Given the description of an element on the screen output the (x, y) to click on. 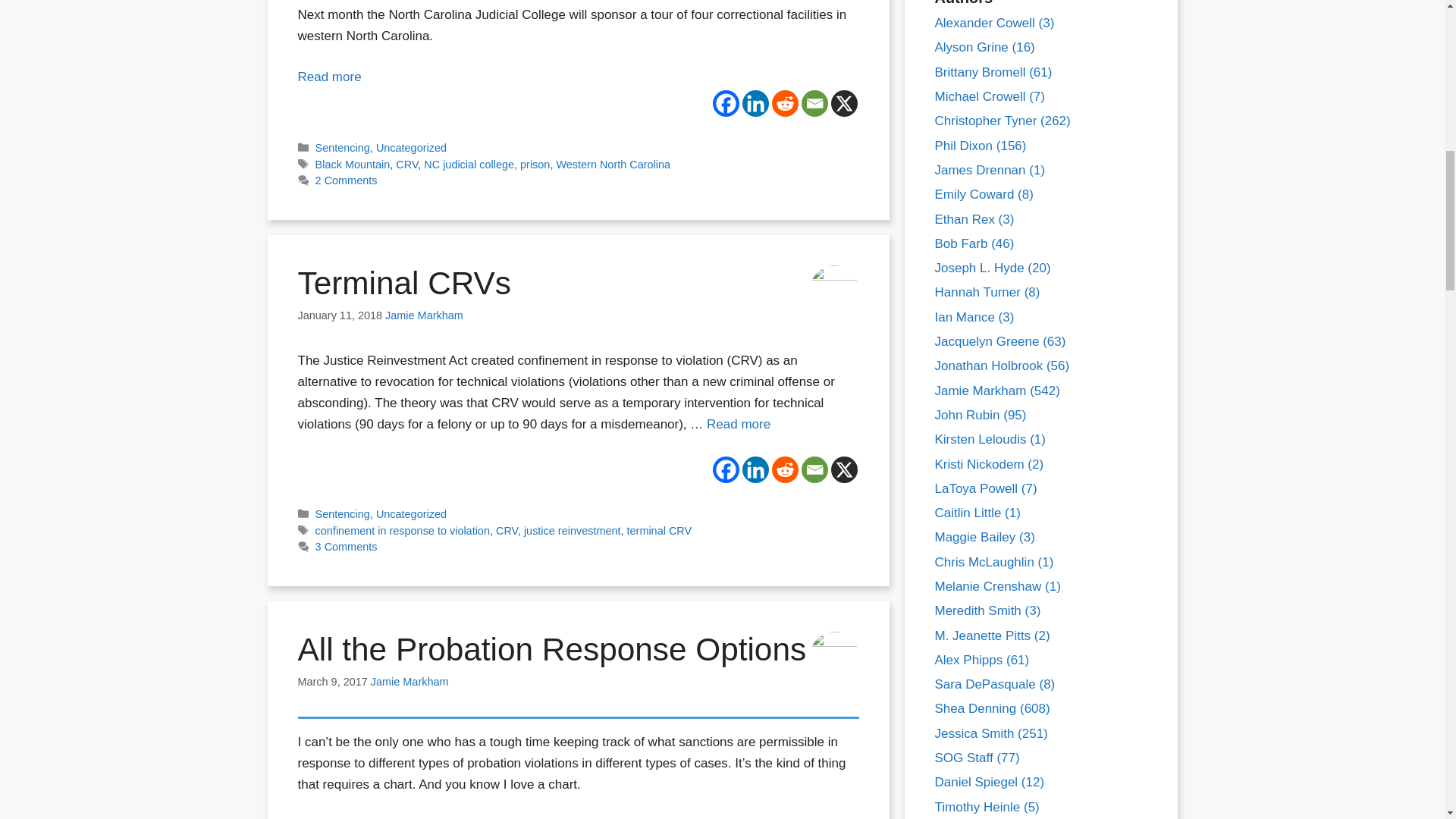
Black Mountain (352, 164)
Reddit (784, 103)
Uncategorized (410, 147)
Linkedin (754, 103)
Facebook (726, 103)
X (844, 103)
prison (534, 164)
Sentencing (342, 147)
Read more (329, 76)
Posts by Jamie Markham (424, 315)
